Given the description of an element on the screen output the (x, y) to click on. 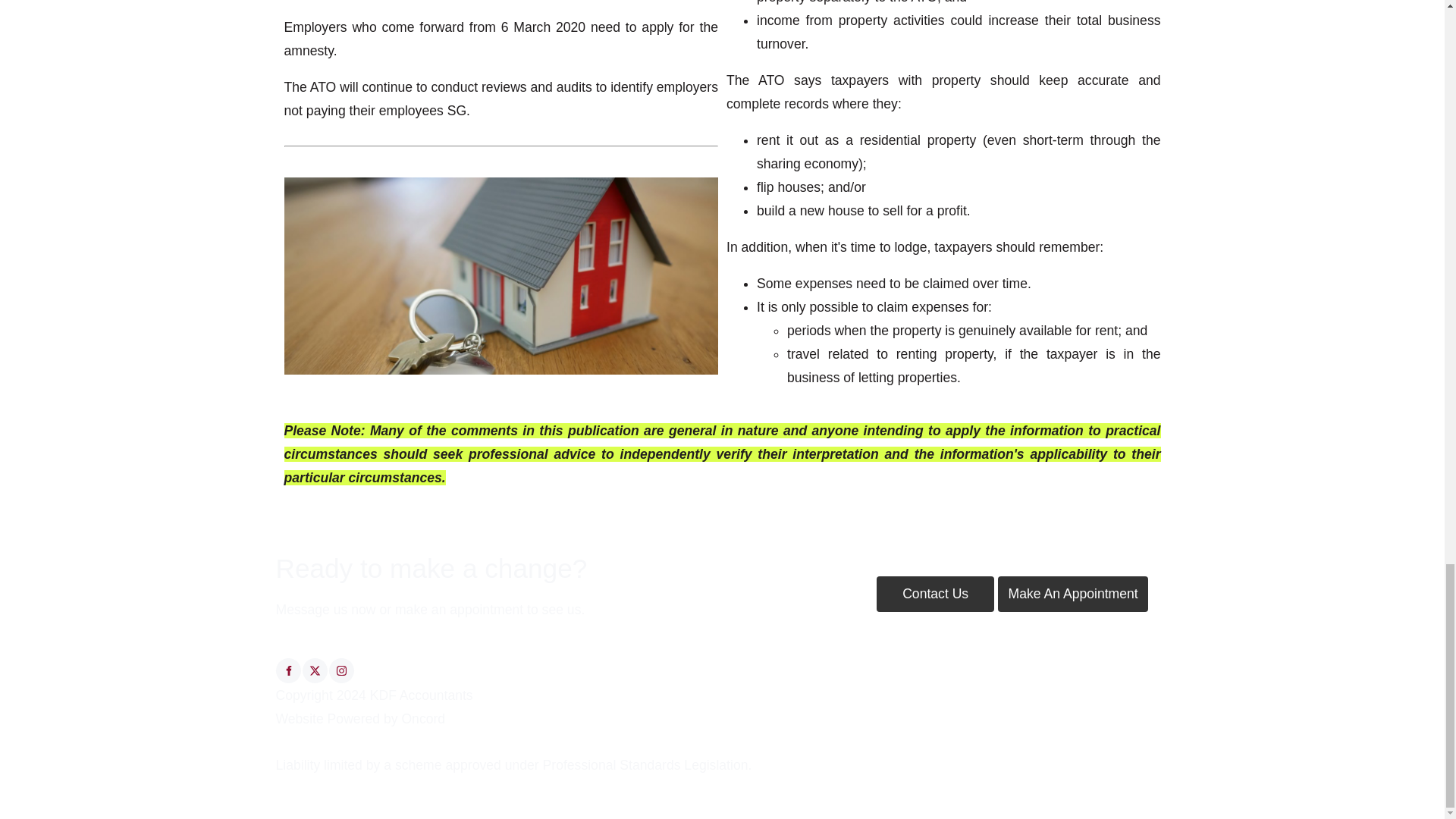
Make An Appointment (1072, 593)
Instagram (341, 670)
Contact Us (935, 593)
Facebook (288, 670)
Oncord (423, 718)
